Given the description of an element on the screen output the (x, y) to click on. 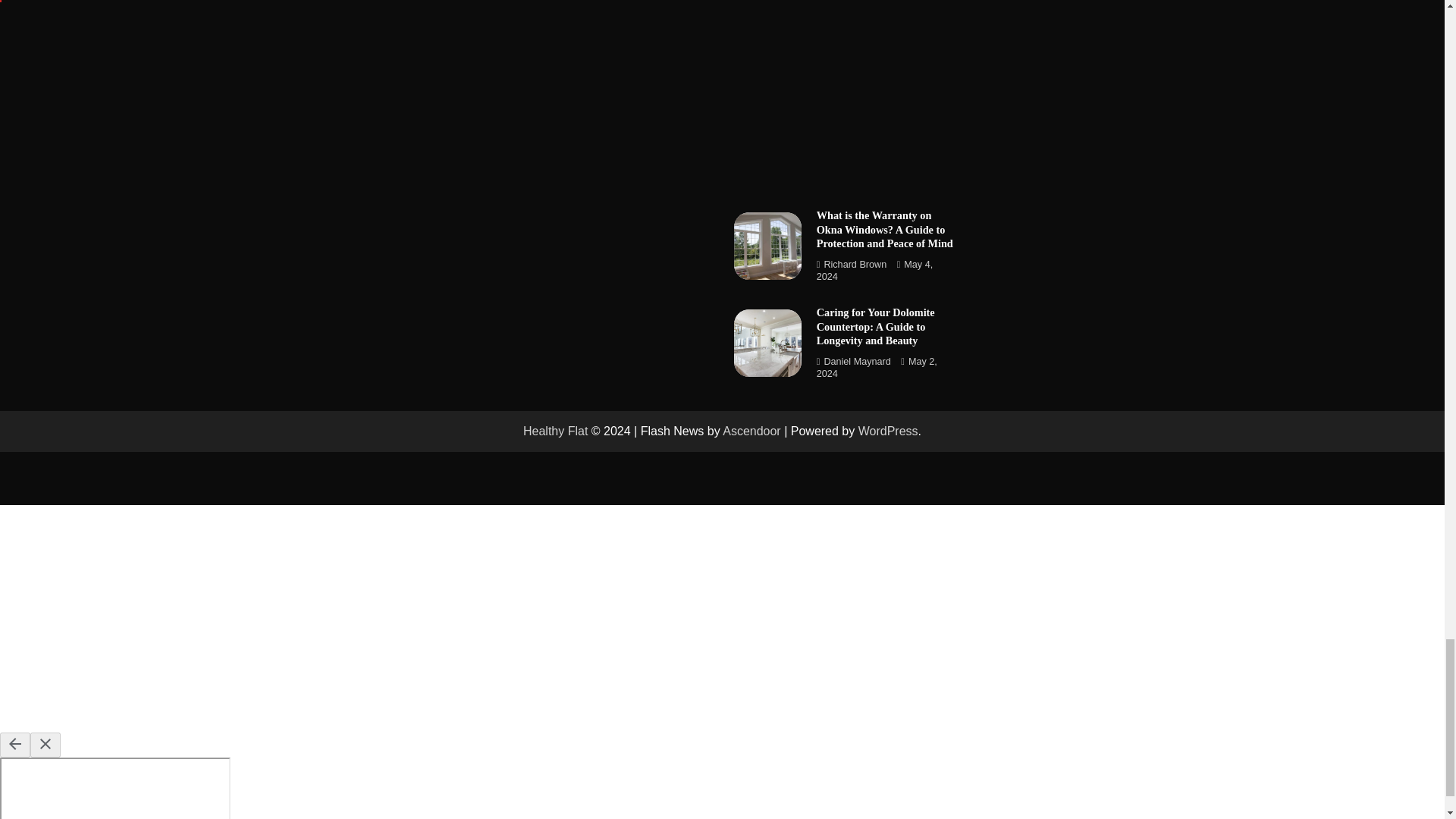
Advertisement (349, 27)
Advertisement (846, 92)
